Given the description of an element on the screen output the (x, y) to click on. 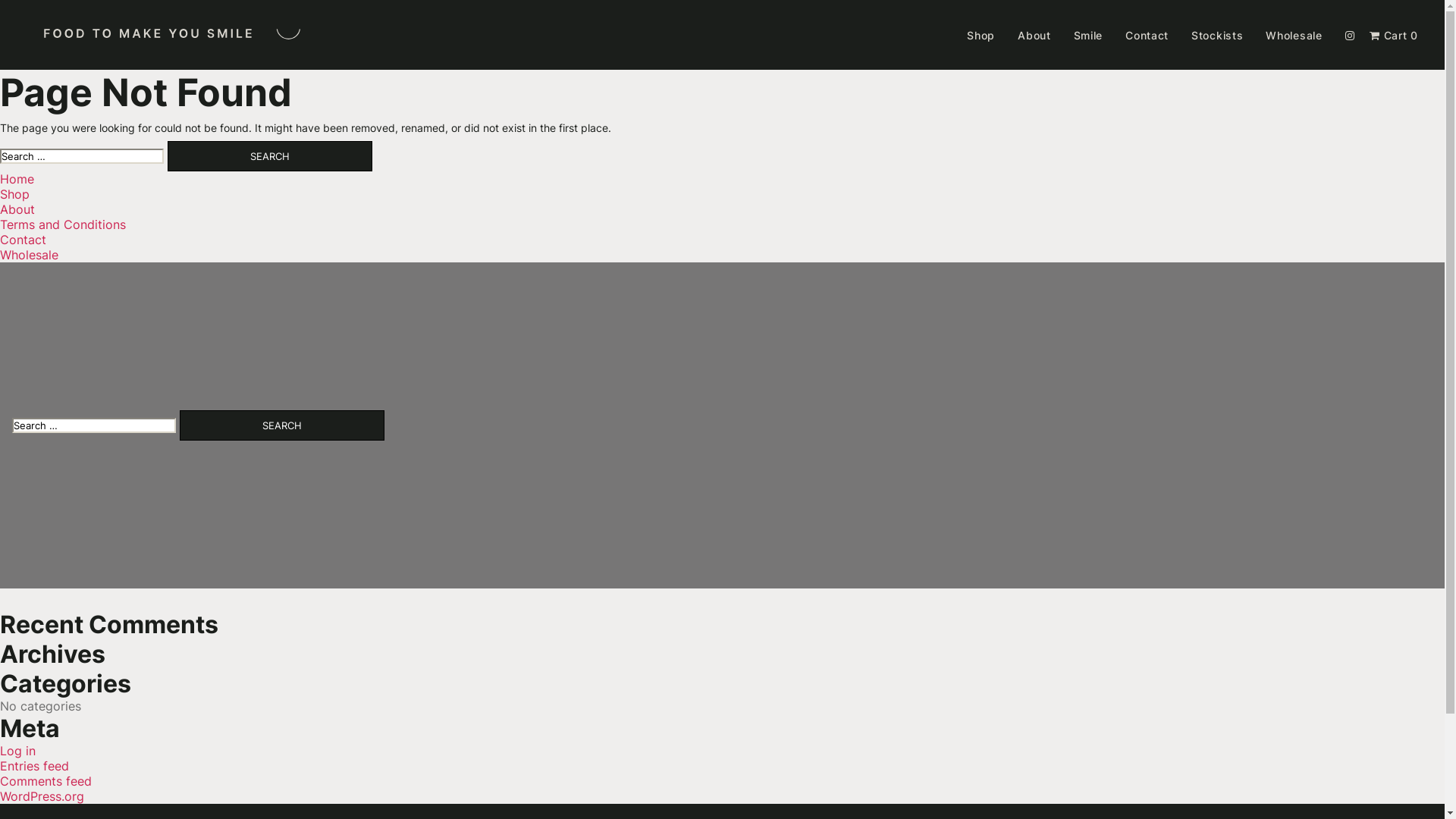
Home Element type: text (17, 178)
Cart 0 Element type: text (1393, 34)
Shop Element type: text (980, 35)
Entries feed Element type: text (34, 765)
WordPress.org Element type: text (42, 795)
Contact Element type: text (23, 239)
Search Element type: text (281, 425)
Smile Element type: text (1088, 35)
About Element type: text (17, 208)
Log in Element type: text (17, 750)
Wholesale Element type: text (1293, 35)
Comments feed Element type: text (45, 780)
Contact Element type: text (1146, 35)
Search Element type: text (269, 156)
Stockists Element type: text (1216, 35)
Wholesale Element type: text (29, 254)
About Element type: text (1034, 35)
Terms and Conditions Element type: text (62, 224)
Shop Element type: text (14, 193)
